Given the description of an element on the screen output the (x, y) to click on. 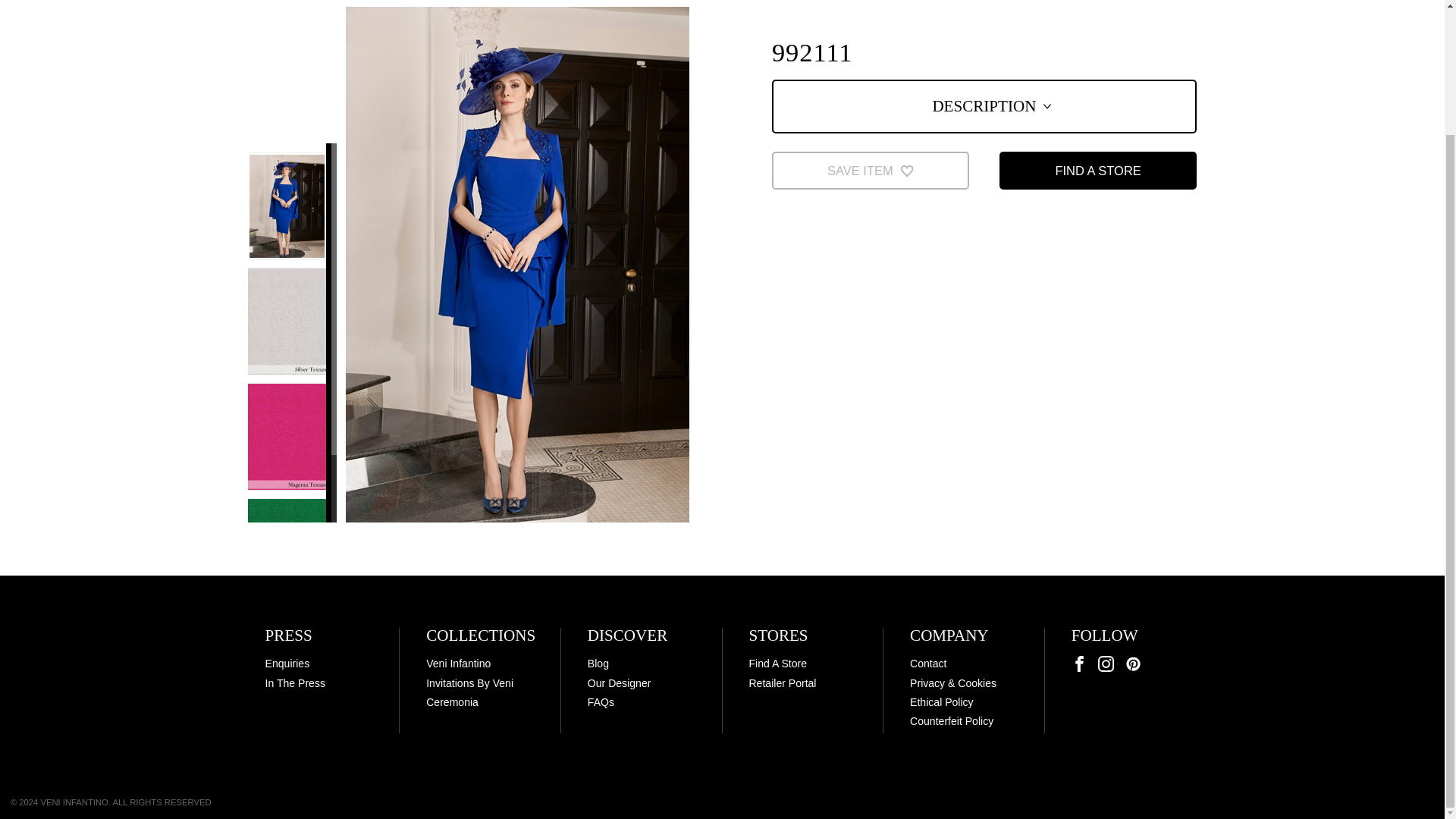
FIND A STORE (1097, 170)
Counterfeit Policy (951, 720)
In The Press (294, 683)
Ceremonia (452, 702)
Veni Infantino (458, 663)
Our Designer (619, 683)
DESCRIPTION (983, 106)
Ethical Policy (942, 702)
Find A Store (777, 663)
SAVE ITEM (870, 170)
